Given the description of an element on the screen output the (x, y) to click on. 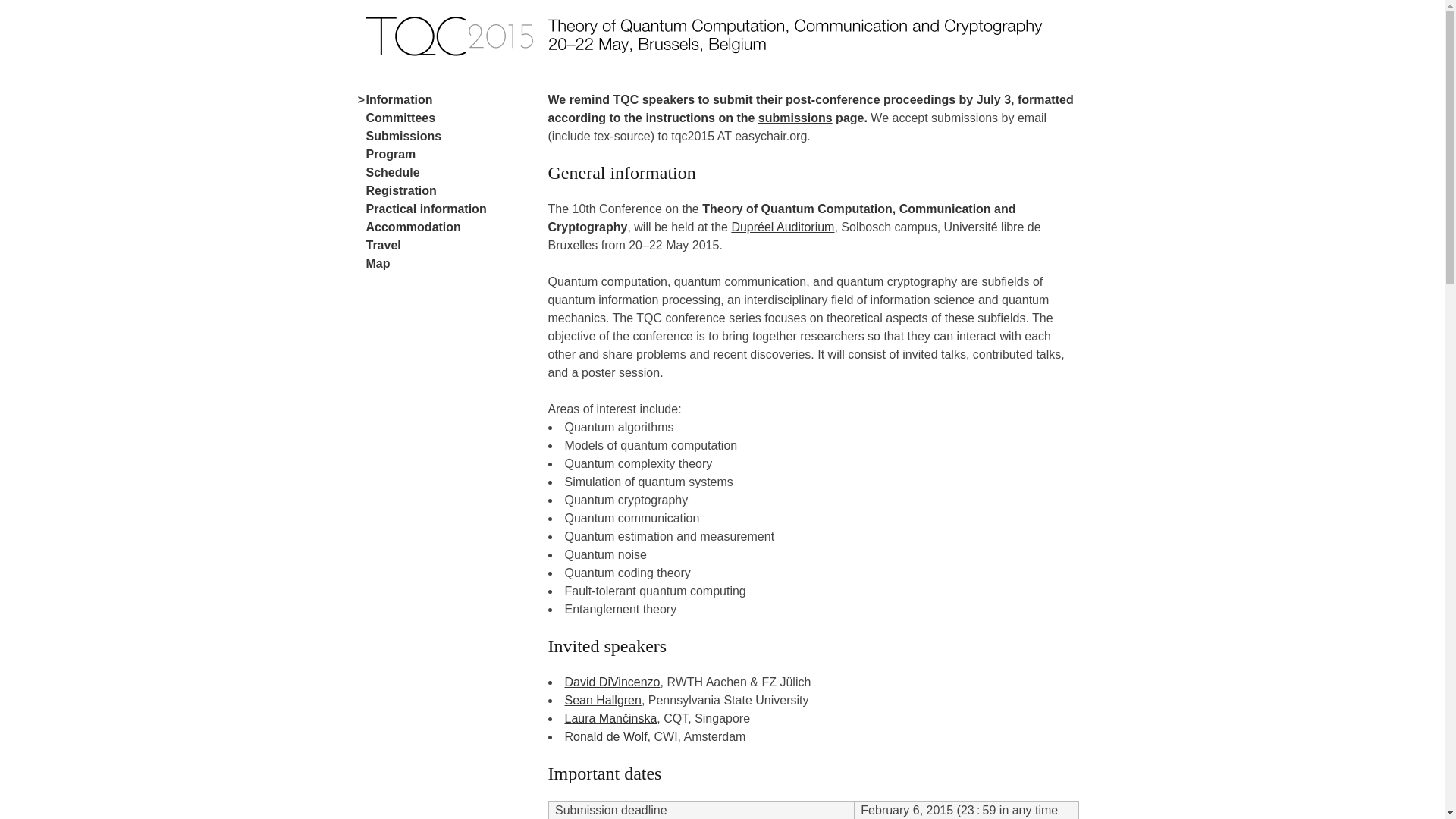
Ronald de Wolf Element type: text (605, 736)
Map Element type: text (377, 263)
submissions Element type: text (795, 117)
Submissions Element type: text (403, 135)
Sean Hallgren Element type: text (602, 699)
Program Element type: text (390, 153)
Schedule Element type: text (392, 172)
Practical information Element type: text (425, 208)
Travel Element type: text (382, 244)
Registration Element type: text (400, 190)
Committees Element type: text (400, 117)
Accommodation Element type: text (412, 226)
Information Element type: text (398, 99)
David DiVincenzo Element type: text (611, 681)
